Given the description of an element on the screen output the (x, y) to click on. 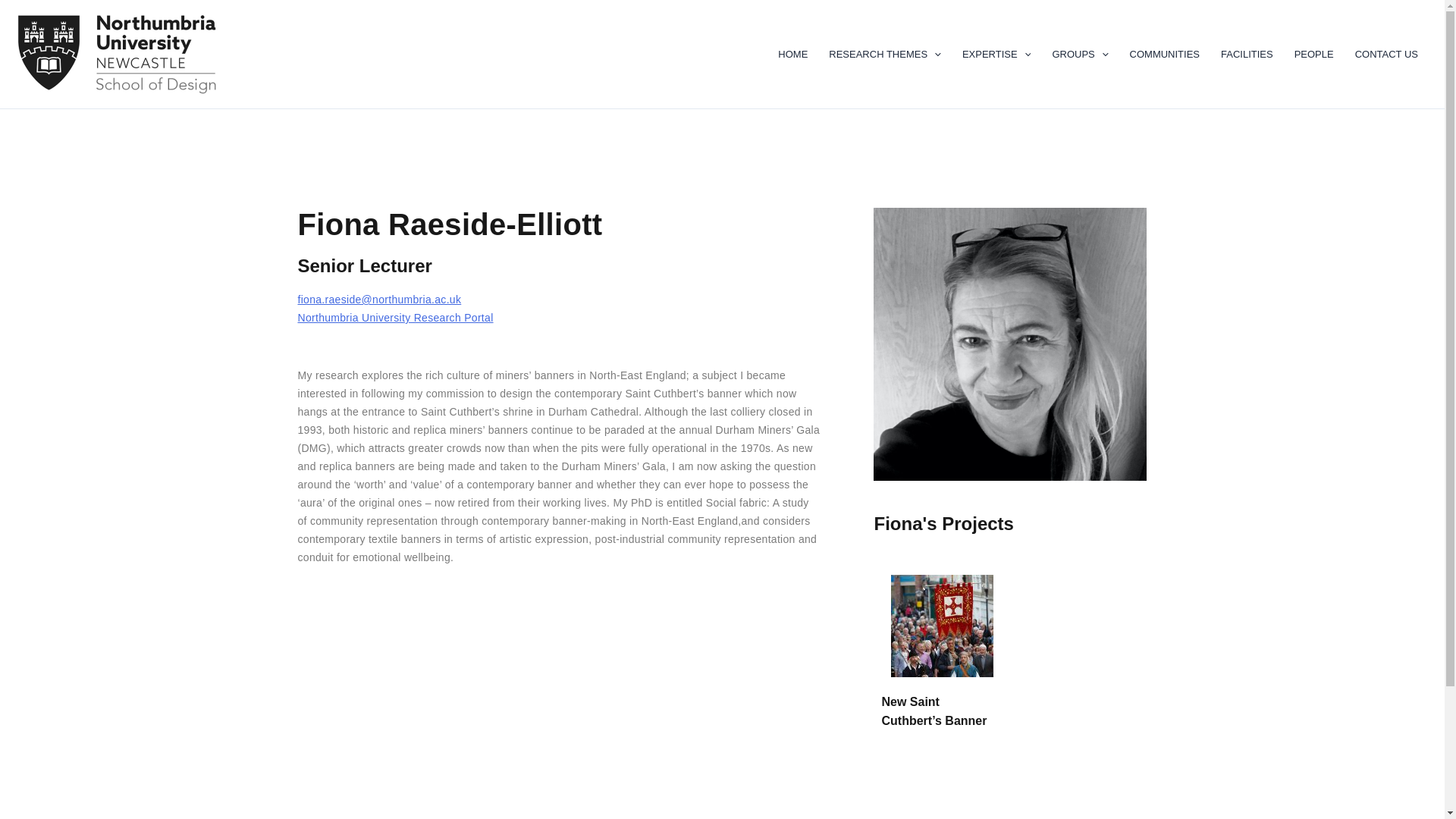
GROUPS (1080, 54)
PEOPLE (1314, 54)
COMMUNITIES (1165, 54)
CONTACT US (1387, 54)
RESEARCH THEMES (885, 54)
FACILITIES (1247, 54)
EXPERTISE (997, 54)
NewSaintCuthbertsBanner-featured (941, 625)
